Given the description of an element on the screen output the (x, y) to click on. 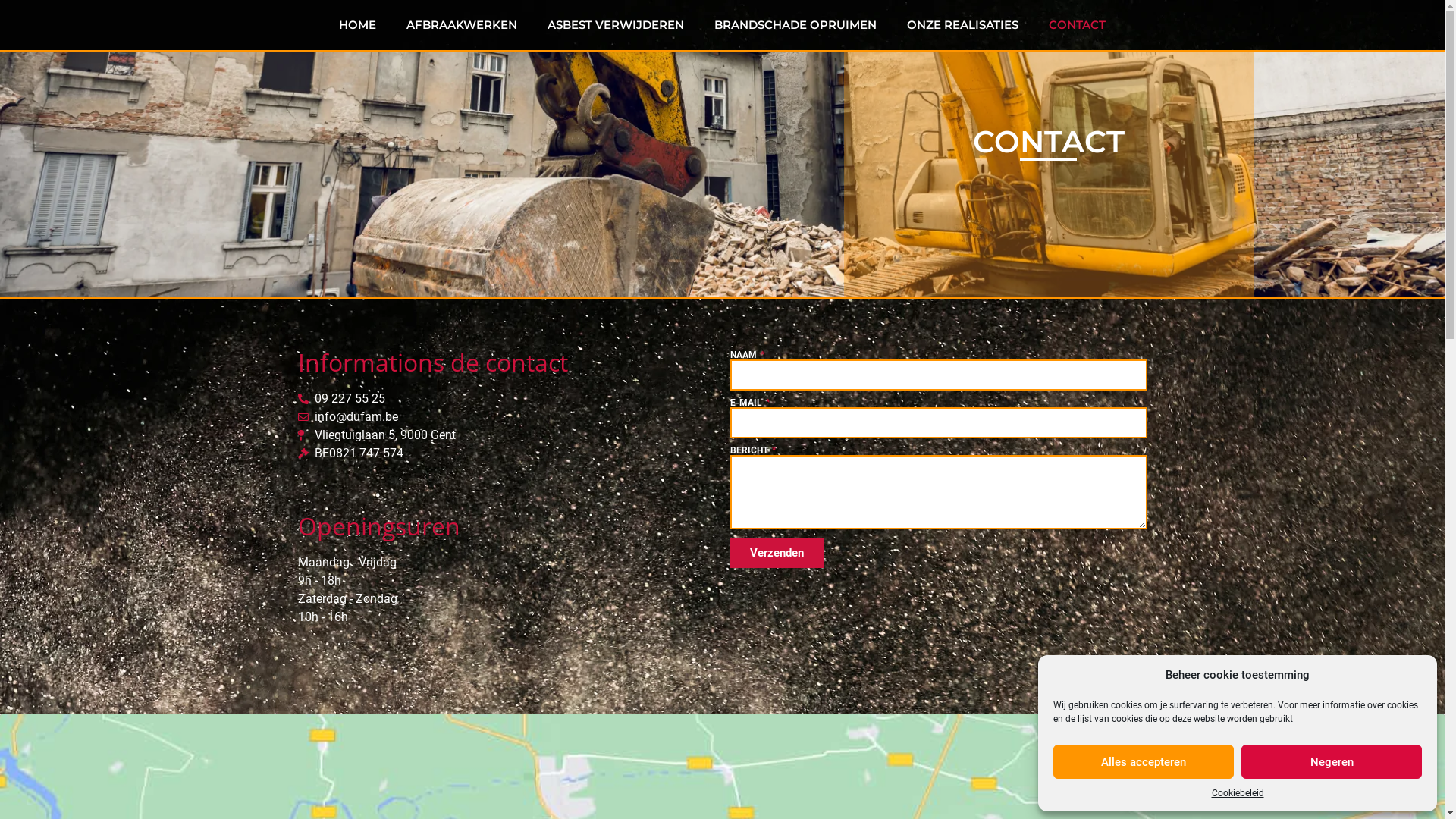
Alles accepteren Element type: text (1143, 761)
ONZE REALISATIES Element type: text (962, 24)
ASBEST VERWIJDEREN Element type: text (615, 24)
Verzenden Element type: text (775, 552)
AFBRAAKWERKEN Element type: text (461, 24)
Cookiebeleid Element type: text (1237, 793)
Negeren Element type: text (1331, 761)
info@dufam.be Element type: text (505, 416)
HOME Element type: text (357, 24)
09 227 55 25 Element type: text (505, 398)
CONTACT Element type: text (1076, 24)
BRANDSCHADE OPRUIMEN Element type: text (795, 24)
